Given the description of an element on the screen output the (x, y) to click on. 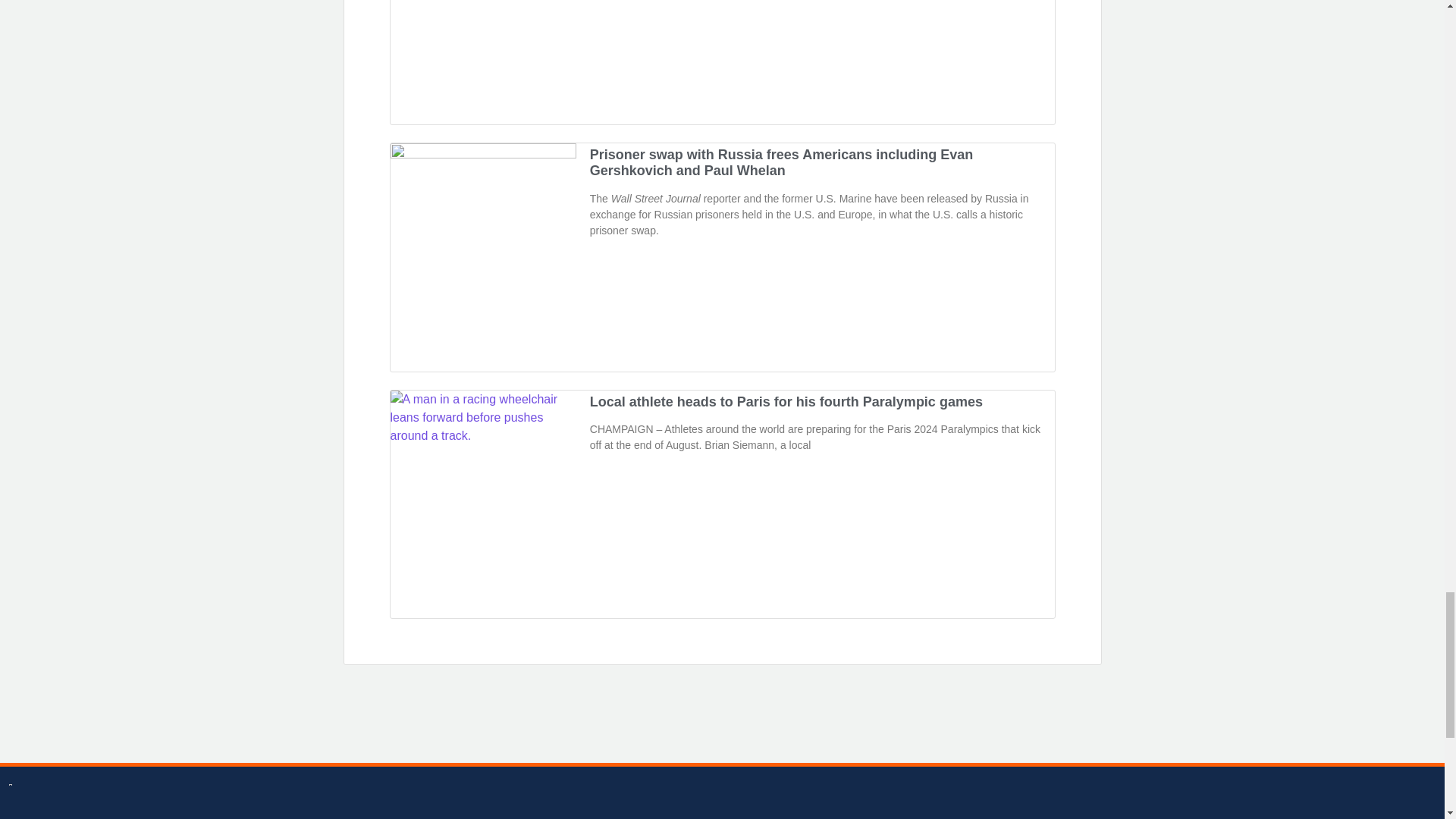
Local athlete heads to Paris for his fourth Paralympic games (785, 401)
